Given the description of an element on the screen output the (x, y) to click on. 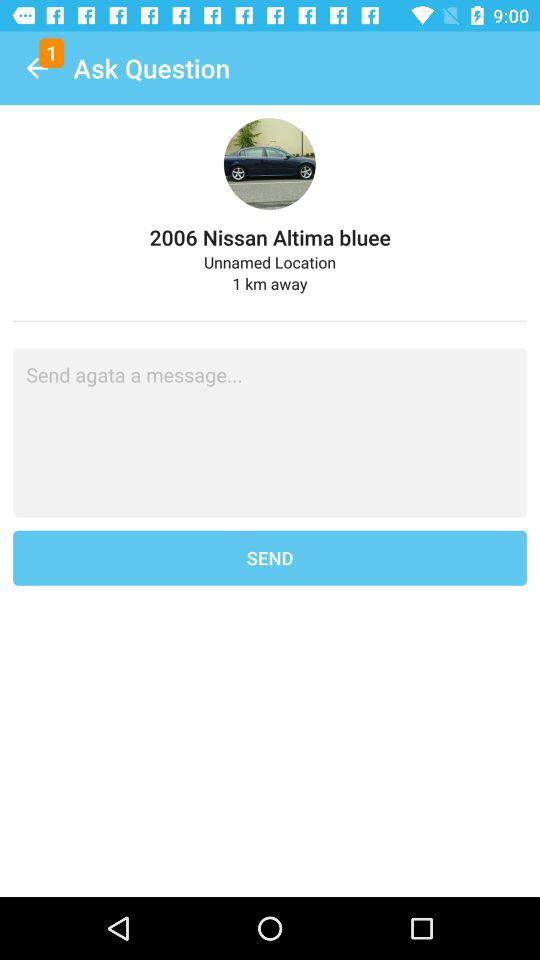
enter message (269, 432)
